Given the description of an element on the screen output the (x, y) to click on. 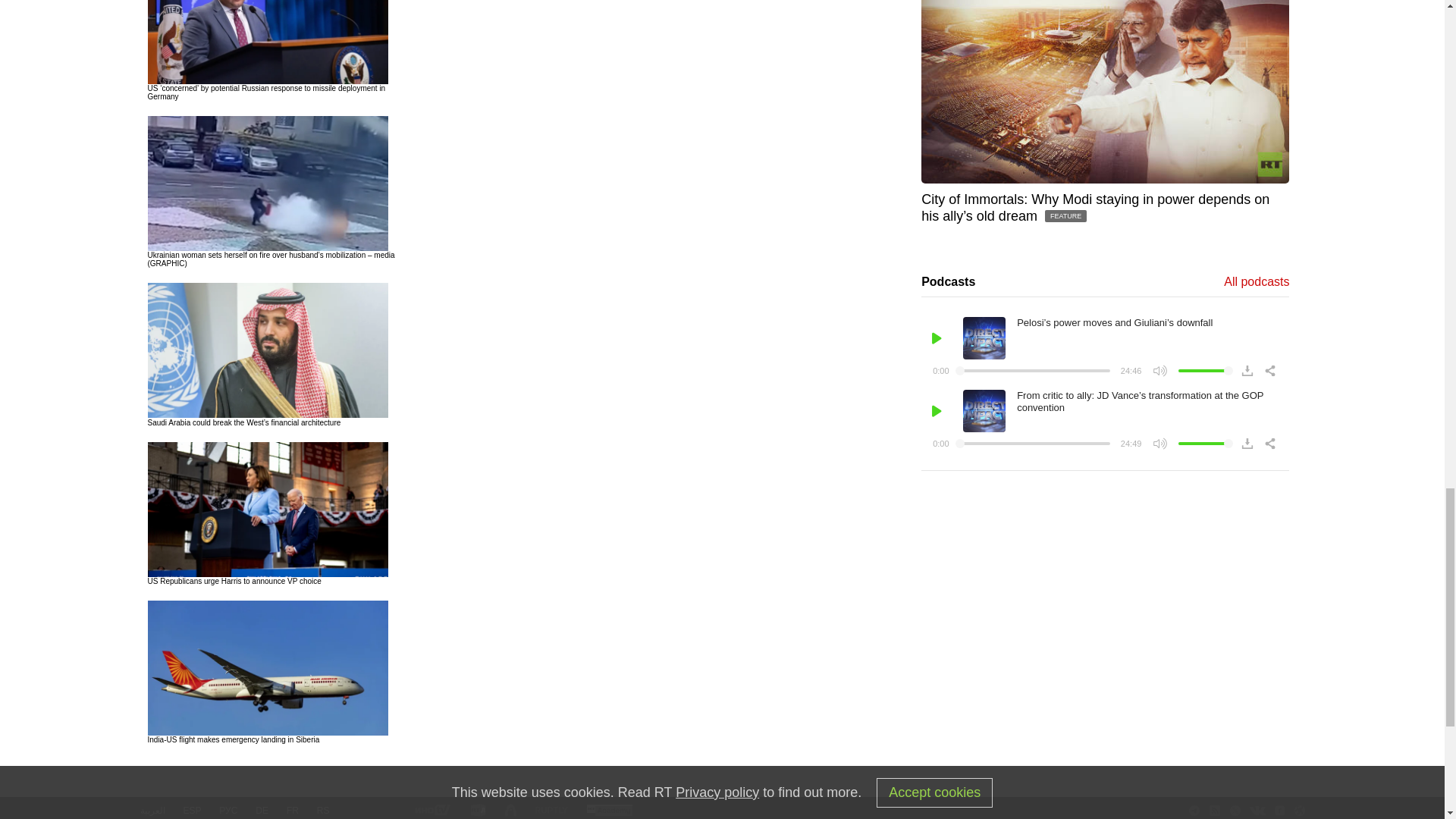
RT  (478, 810)
RT  (551, 810)
RT  (608, 810)
RT  (431, 810)
